Given the description of an element on the screen output the (x, y) to click on. 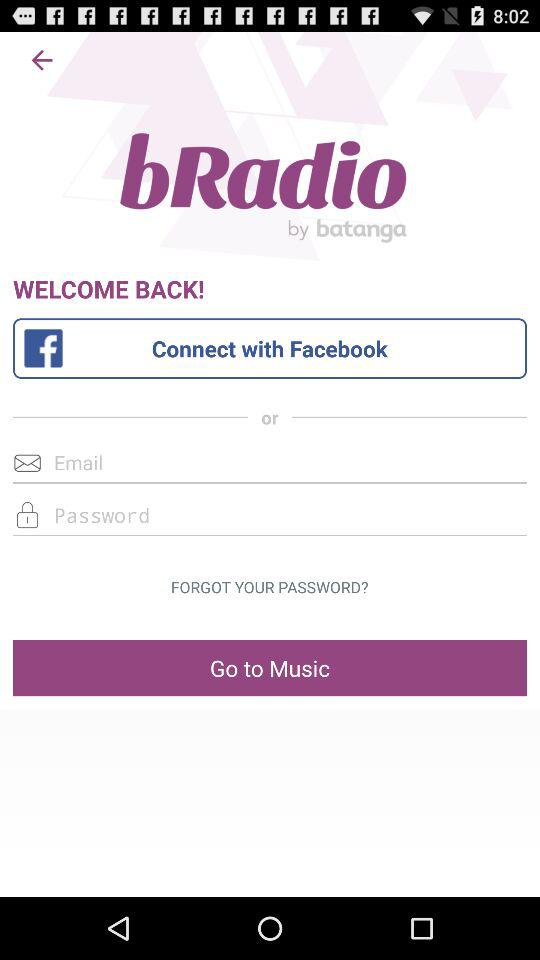
connect with facebook (269, 348)
